Given the description of an element on the screen output the (x, y) to click on. 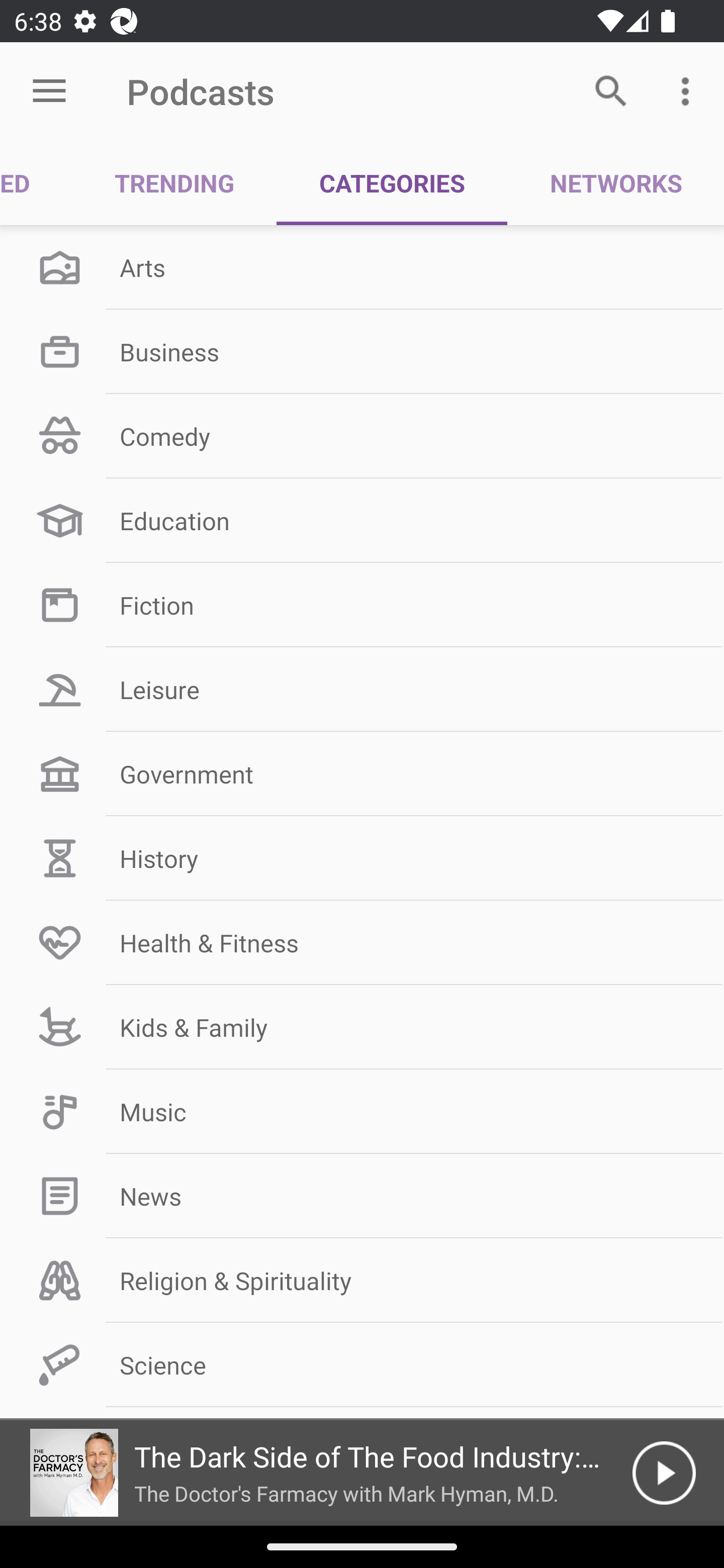
Open menu (49, 91)
Search (611, 90)
More options (688, 90)
TRENDING (174, 183)
CATEGORIES (391, 183)
NETWORKS (615, 183)
Arts (362, 266)
Business (362, 350)
Comedy (362, 435)
Education (362, 520)
Fiction (362, 604)
Leisure (362, 689)
Government (362, 774)
History (362, 858)
Health & Fitness (362, 942)
Kids & Family (362, 1026)
Music (362, 1111)
News (362, 1196)
Religion & Spirituality (362, 1280)
Science (362, 1364)
Play (663, 1472)
